Given the description of an element on the screen output the (x, y) to click on. 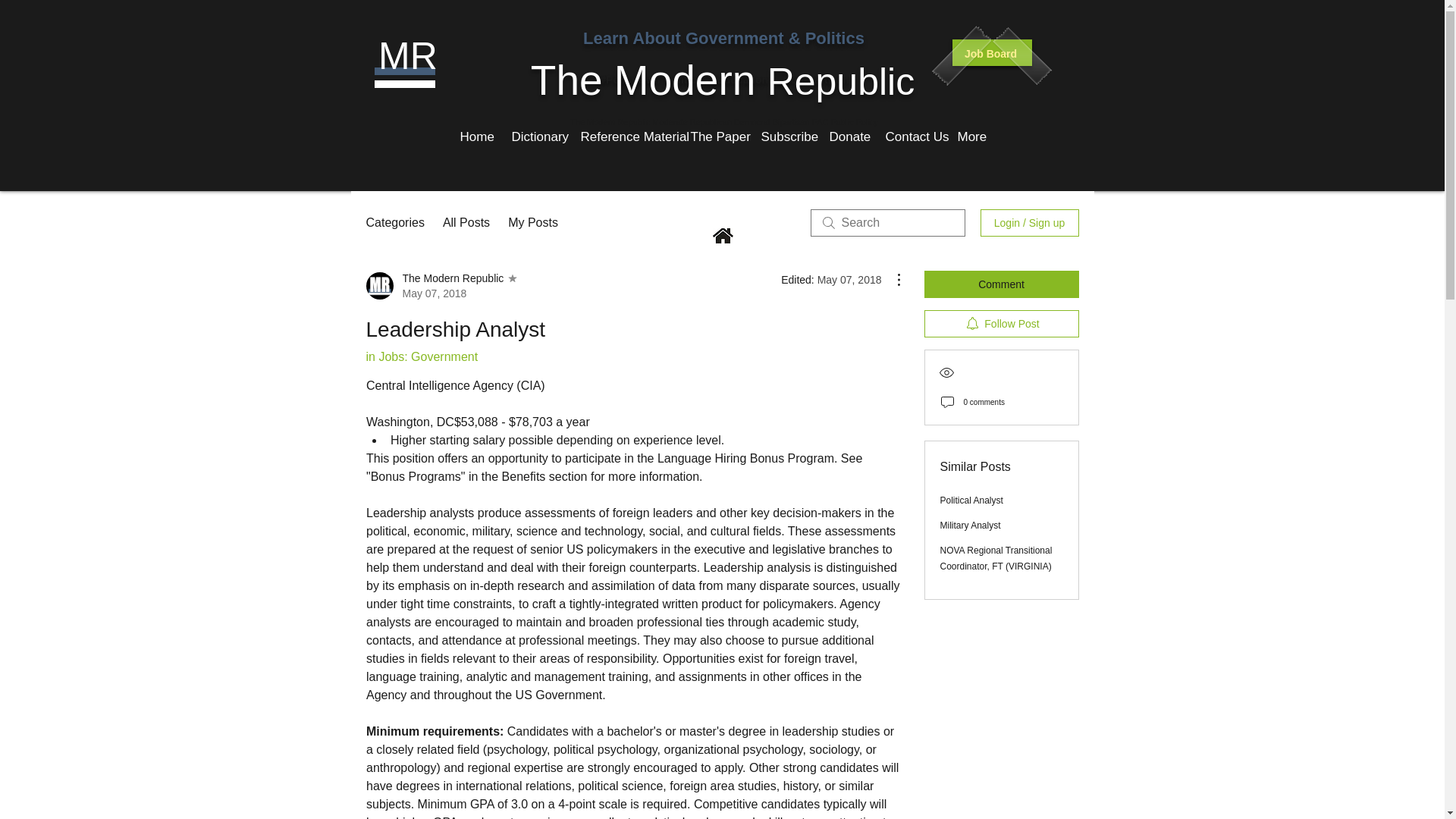
Reference Material (623, 136)
Home (474, 136)
Forum Home (723, 235)
Dictionary (534, 136)
